Given the description of an element on the screen output the (x, y) to click on. 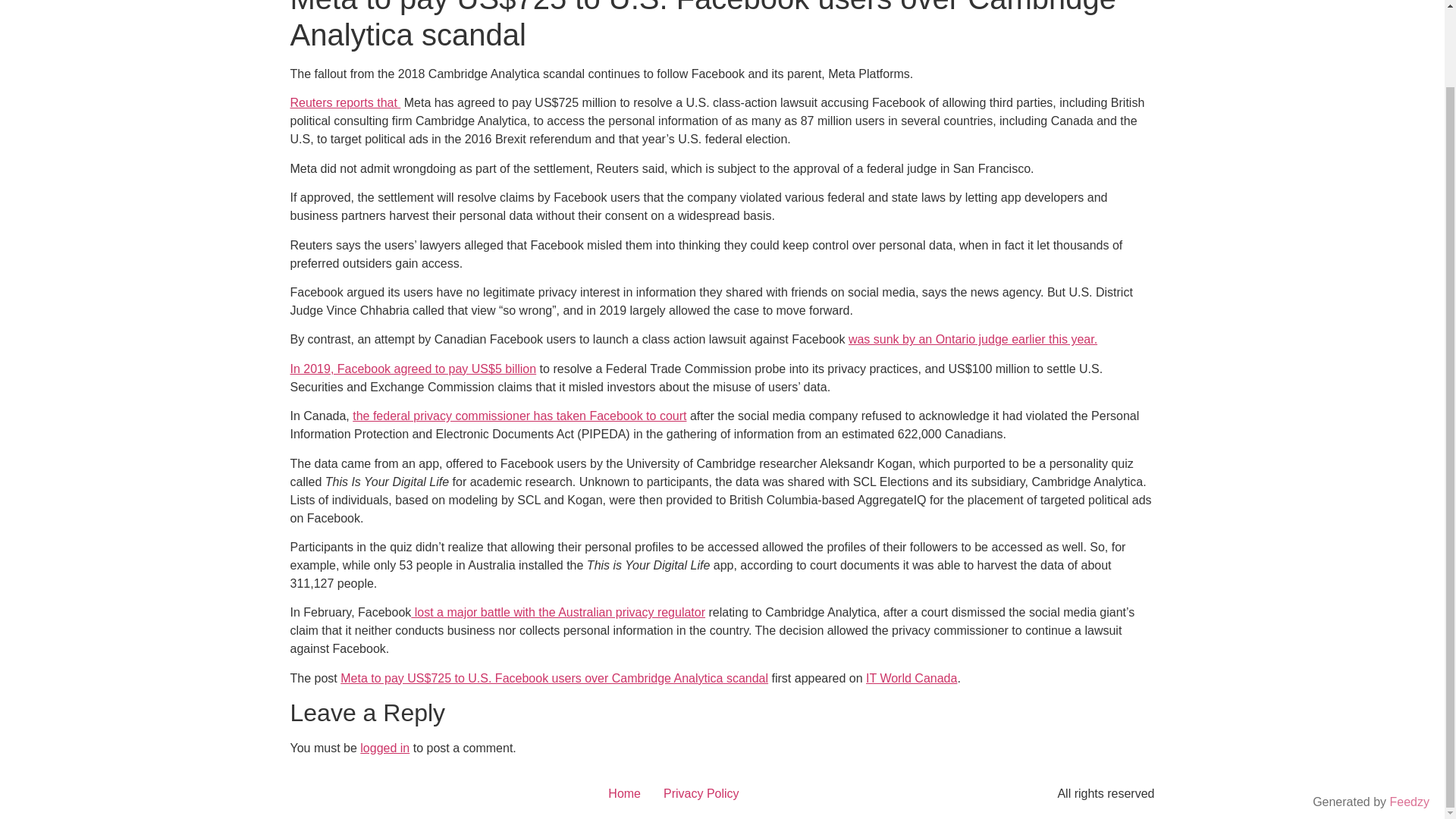
Privacy Policy (701, 793)
lost a major battle with the Australian privacy regulator (557, 612)
logged in (384, 748)
Feedzy (1409, 715)
Reuters reports that  (344, 102)
IT World Canada (911, 677)
Home (624, 793)
was sunk by an Ontario judge earlier this year. (972, 338)
the federal privacy commissioner has taken Facebook to court (518, 415)
